Given the description of an element on the screen output the (x, y) to click on. 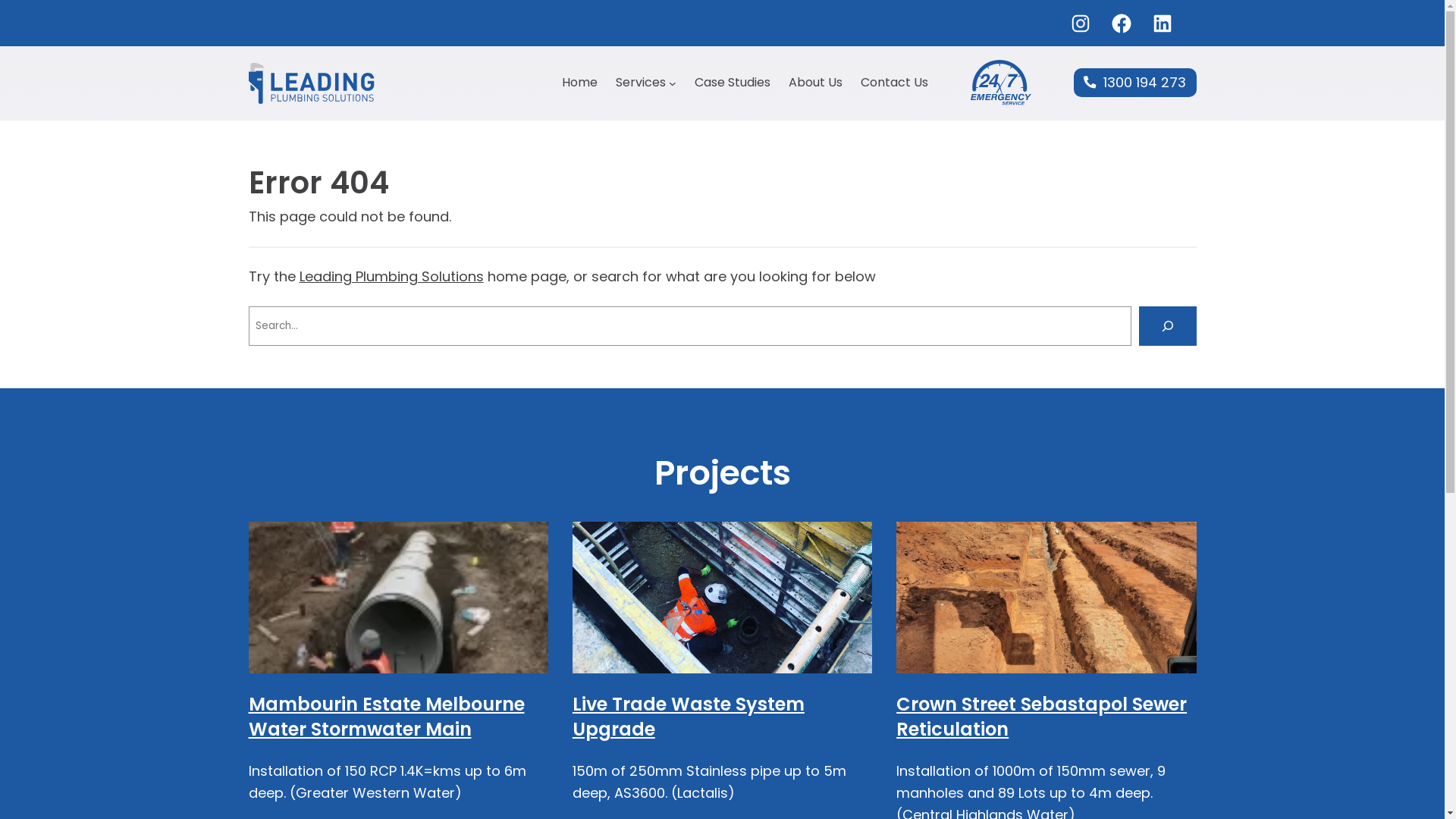
Mambourin Estate Melbourne Water Stormwater Main Element type: text (386, 716)
Instagram Element type: text (1080, 23)
Live Trade Waste System Upgrade Element type: text (688, 716)
Home Element type: text (579, 82)
About Us Element type: text (815, 82)
LinkedIn Element type: text (1162, 23)
Services Element type: text (640, 82)
Leading Plumbing Solutions Element type: text (390, 275)
Crown Street Sebastapol Sewer Reticulation Element type: text (1041, 716)
Case Studies Element type: text (732, 82)
Contact Us Element type: text (893, 82)
Facebook Element type: text (1121, 23)
1300 194 273 Element type: text (1134, 82)
